Given the description of an element on the screen output the (x, y) to click on. 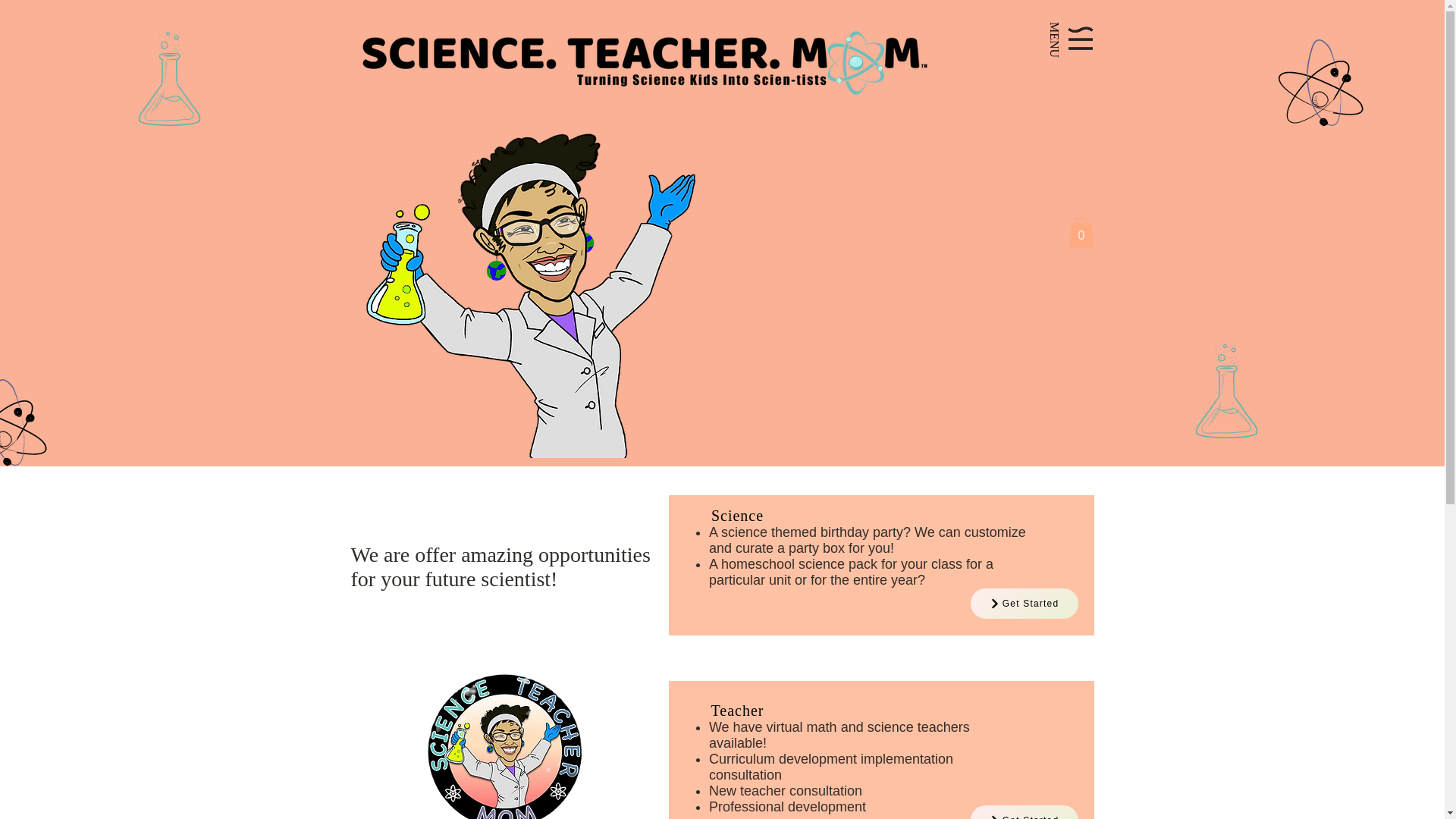
Science (736, 515)
Teacher (737, 710)
Get Started (1024, 603)
Get Started (1024, 812)
MENU (1060, 39)
